Given the description of an element on the screen output the (x, y) to click on. 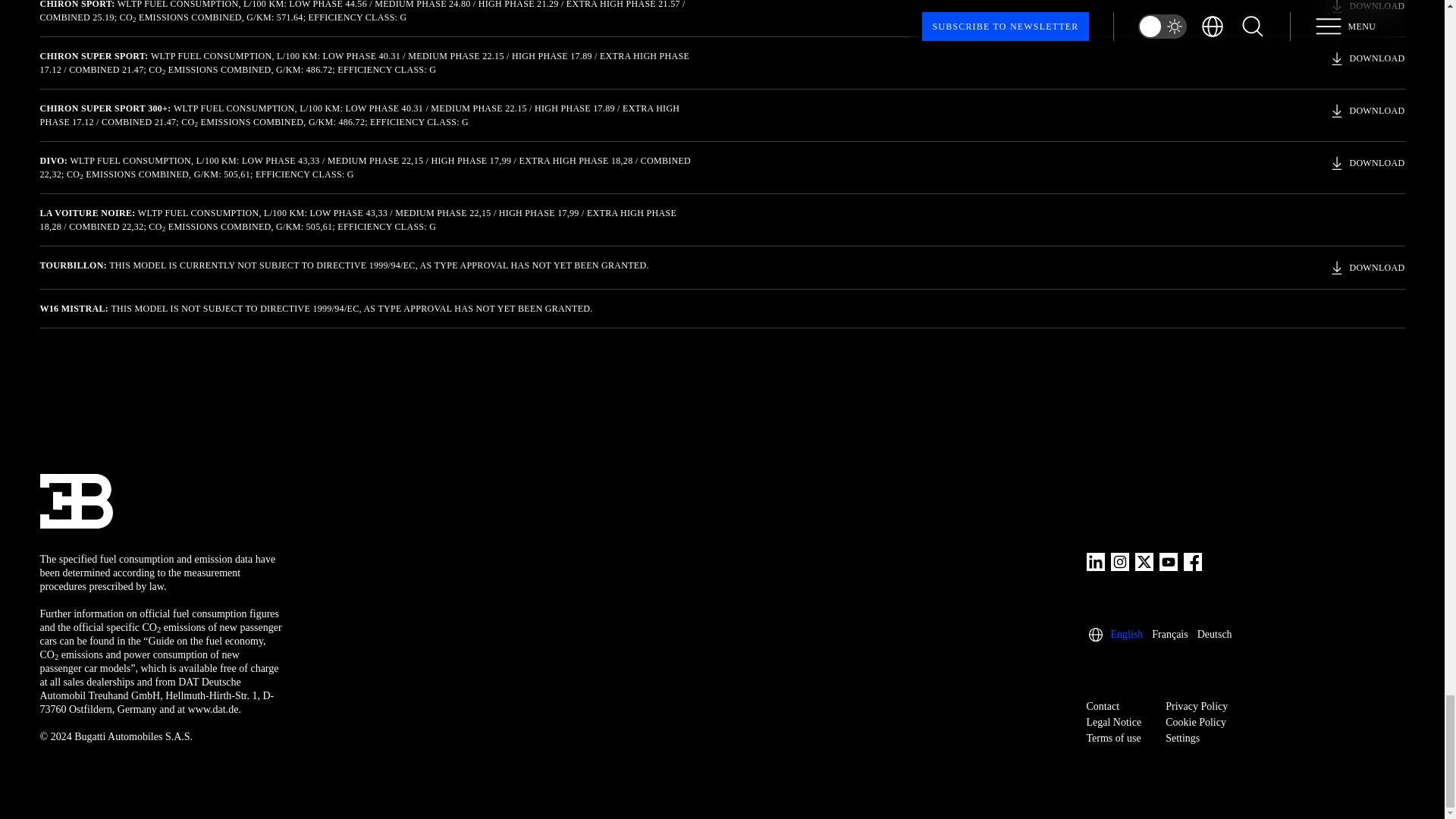
DOWNLOAD (1366, 58)
Bugatti on Instagram (1118, 561)
Deutsch (1213, 633)
DOWNLOAD (1366, 7)
Bugatti on Linkedin (1094, 561)
Bugatti on Facebook (1191, 561)
Bugatti (75, 501)
Bugatti on X (1143, 561)
DOWNLOAD (1366, 162)
DOWNLOAD (1366, 110)
